Given the description of an element on the screen output the (x, y) to click on. 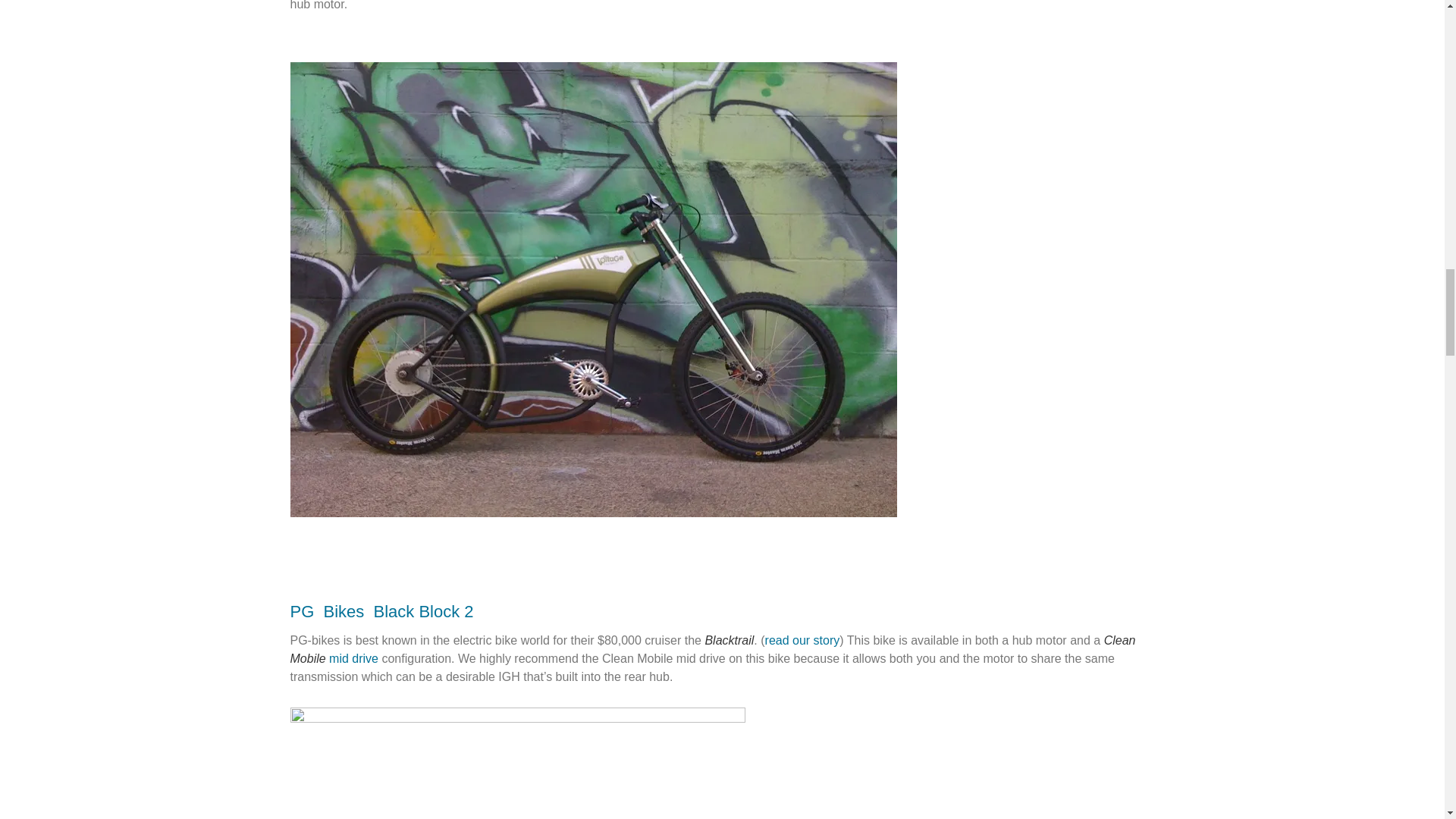
mid drive (353, 658)
PG  Bikes  Black Block 2 (381, 610)
read our story (802, 640)
